Given the description of an element on the screen output the (x, y) to click on. 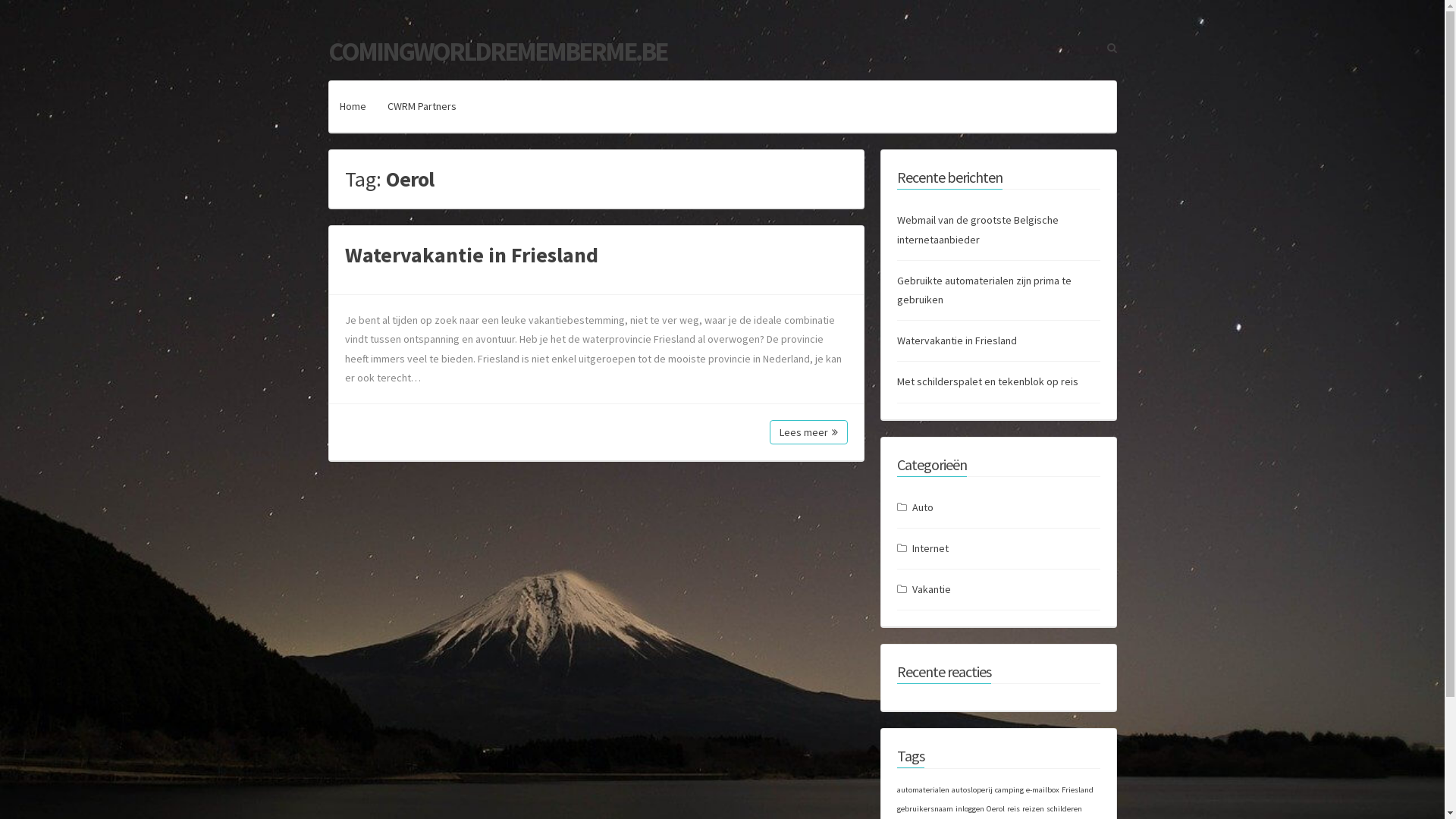
gebruikersnaam Element type: text (924, 808)
Internet Element type: text (929, 548)
Lees meer Element type: text (808, 432)
autosloperij Element type: text (970, 789)
CWRM Partners Element type: text (421, 106)
schilderen Element type: text (1064, 808)
reizen Element type: text (1033, 808)
inloggen Element type: text (969, 808)
e-mailbox Element type: text (1041, 789)
reis Element type: text (1013, 808)
automaterialen Element type: text (922, 789)
Met schilderspalet en tekenblok op reis Element type: text (986, 381)
camping Element type: text (1008, 789)
COMINGWORLDREMEMBERME.BE Element type: text (496, 51)
Vakantie Element type: text (930, 589)
Watervakantie in Friesland Element type: text (956, 340)
Watervakantie in Friesland Element type: text (470, 254)
Oerol Element type: text (994, 808)
Auto Element type: text (921, 507)
Gebruikte automaterialen zijn prima te gebruiken Element type: text (983, 289)
Friesland Element type: text (1077, 789)
Home Element type: text (352, 106)
Webmail van de grootste Belgische internetaanbieder Element type: text (976, 229)
